Given the description of an element on the screen output the (x, y) to click on. 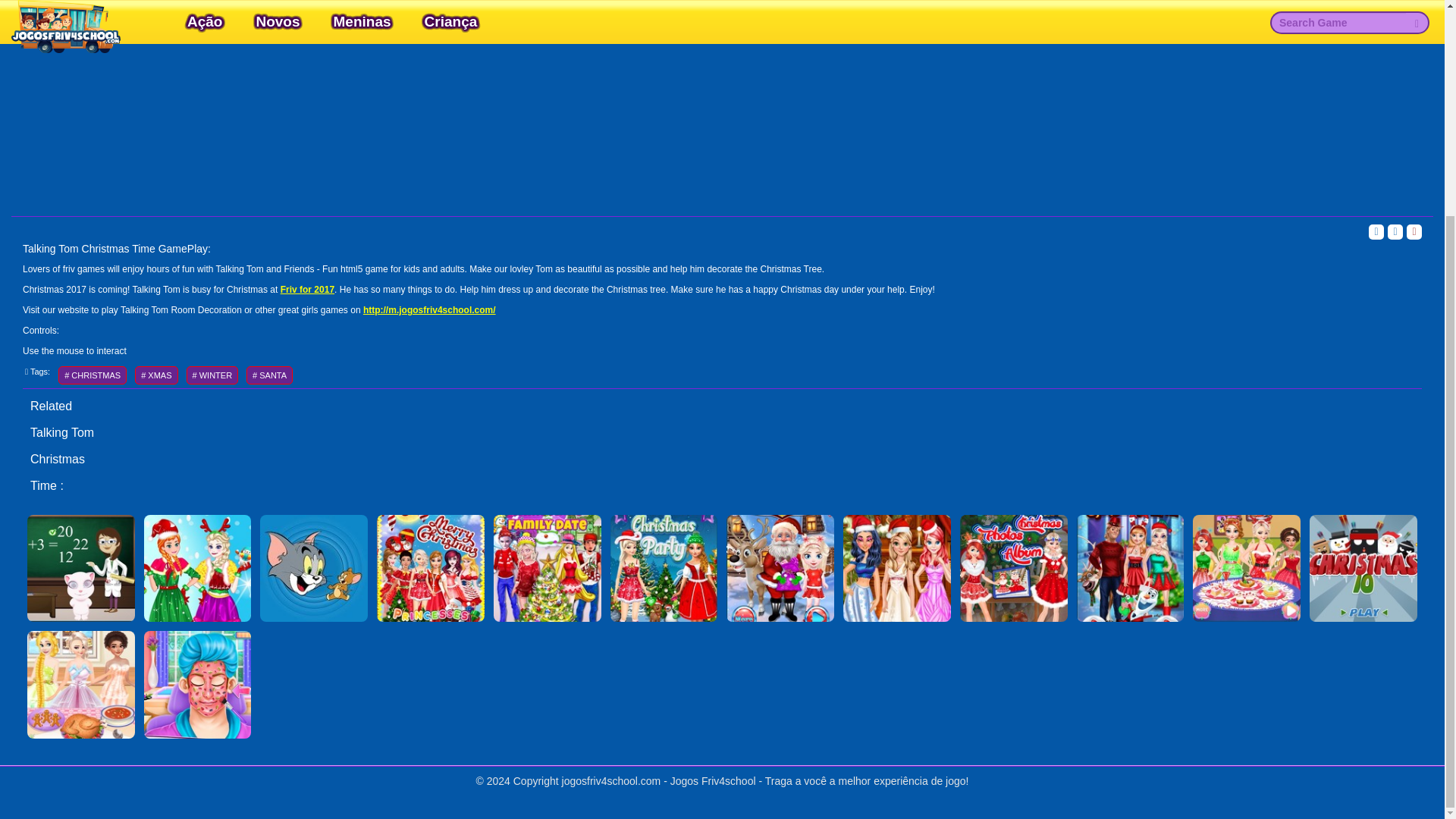
Elsa Make Christmas Gift  (197, 568)
Frozen Christmas Eve (1130, 568)
Christmas IO (1363, 568)
Friv for 2017 (307, 289)
Princesses Christmas Photos Album (1013, 568)
Advertisement (721, 98)
Save Injured Santa And Christmas Elk (780, 568)
Bffs Christmas Party (896, 568)
Tom and Jerry: Mouse Maze (314, 568)
Disney Princesses Christmas Dinner (1246, 568)
